Given the description of an element on the screen output the (x, y) to click on. 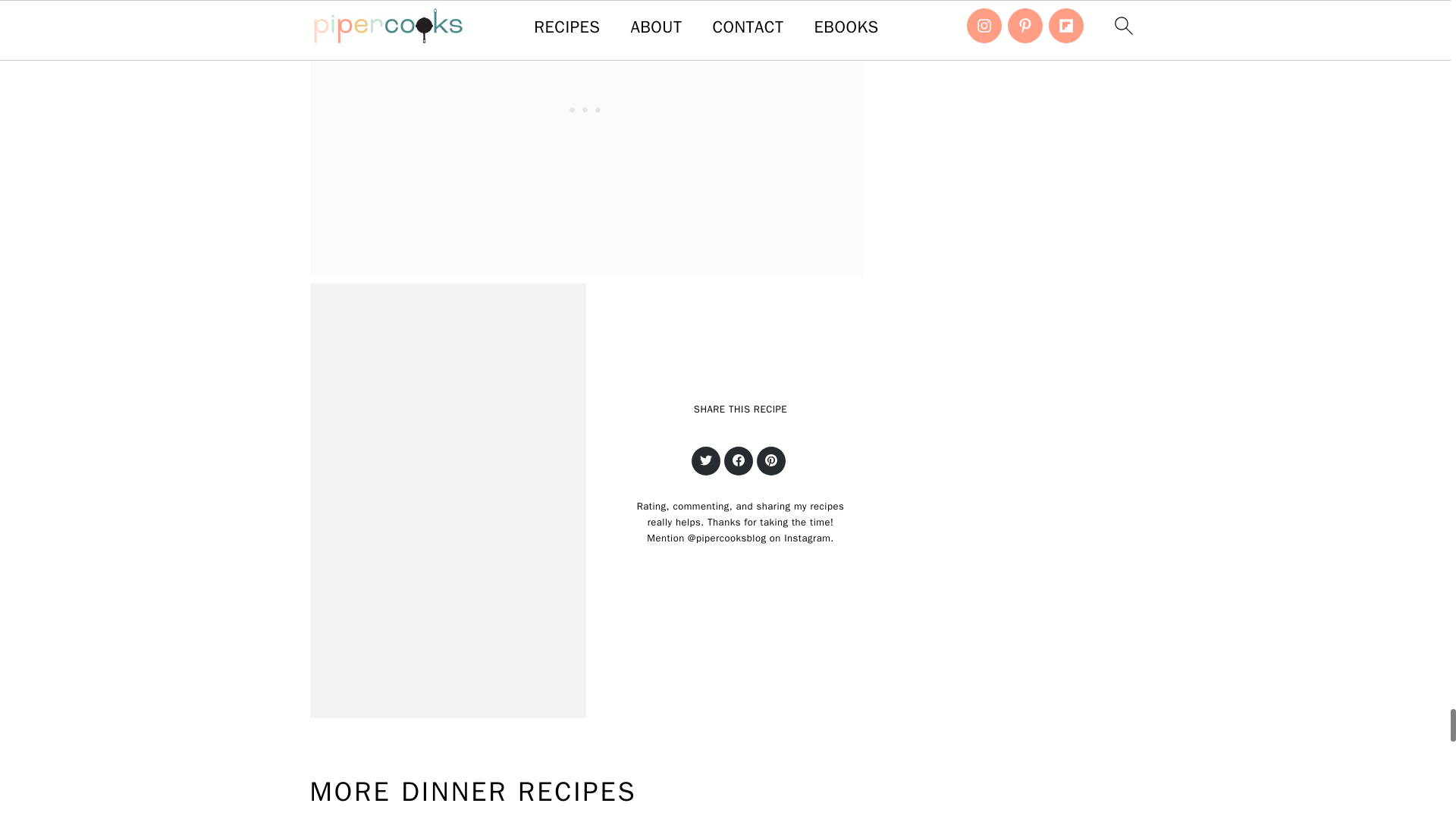
Share on Pinterest (771, 460)
Share on Twitter (705, 460)
Share on Facebook (737, 460)
